Given the description of an element on the screen output the (x, y) to click on. 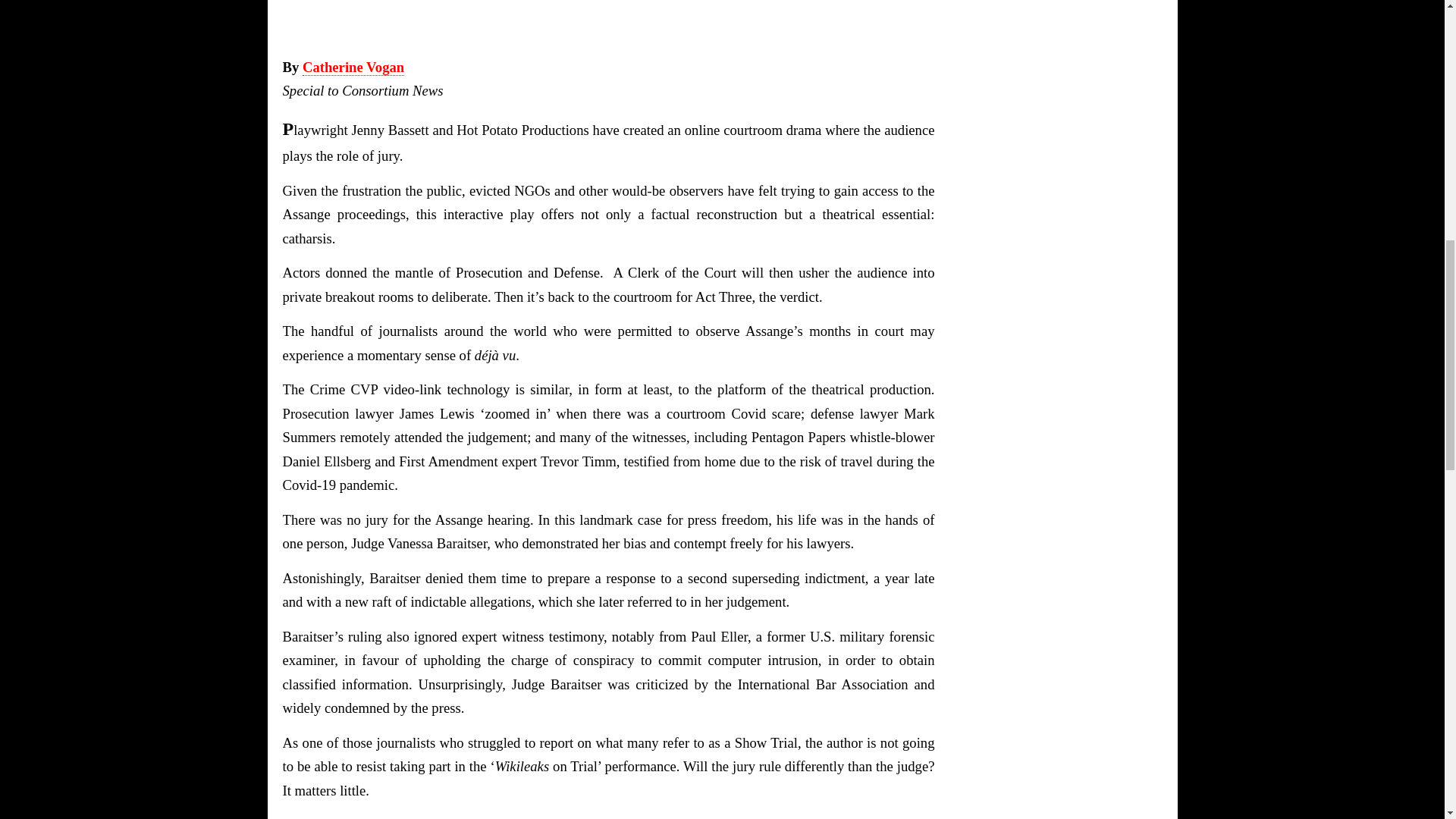
Catherine Vogan (353, 67)
